Given the description of an element on the screen output the (x, y) to click on. 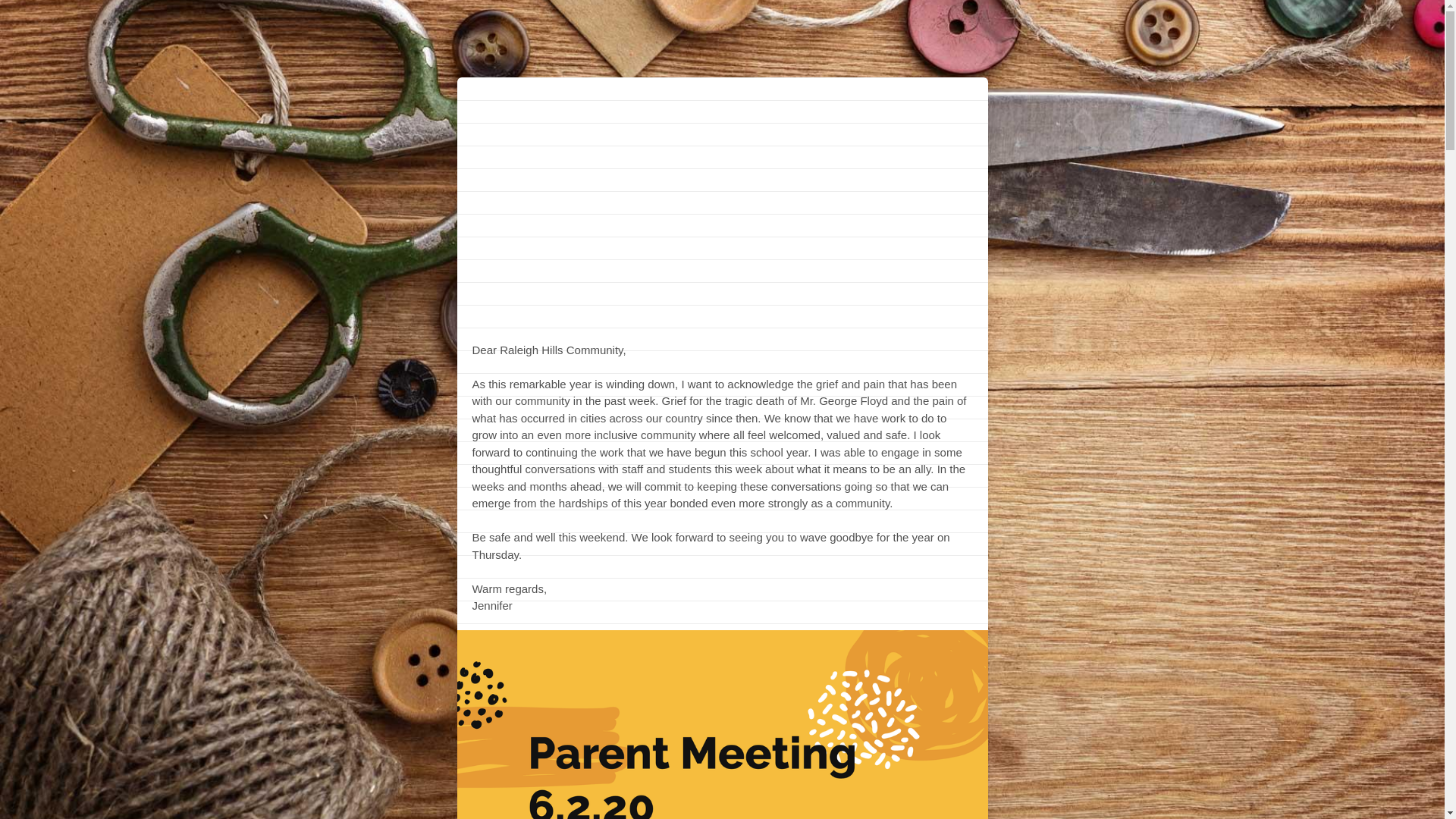
Weekly (722, 182)
Message (684, 318)
